Given the description of an element on the screen output the (x, y) to click on. 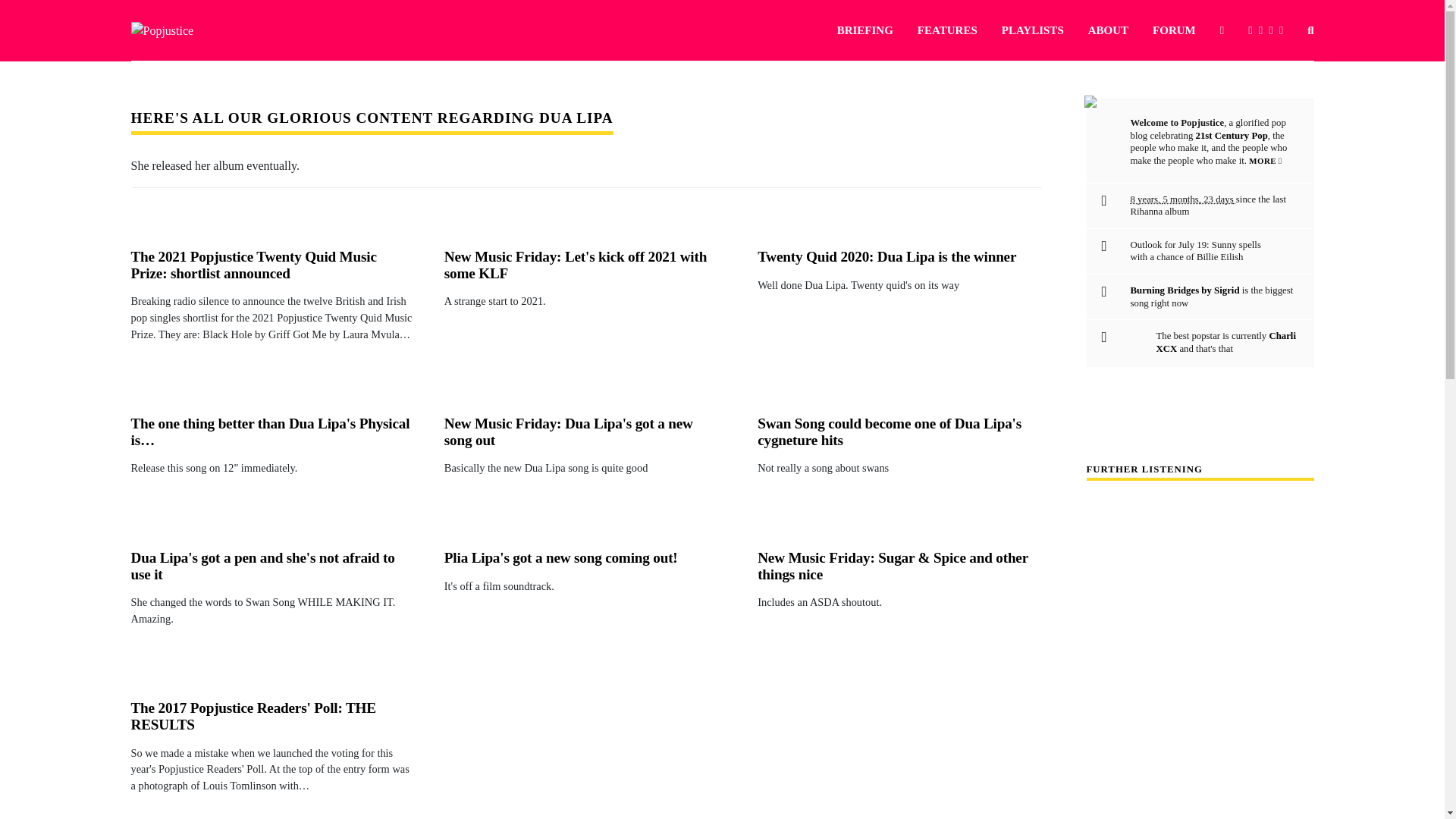
BRIEFING (865, 30)
January 27, 2016, 1:00 am (1181, 199)
FEATURES (946, 30)
PLAYLISTS (1032, 30)
